Given the description of an element on the screen output the (x, y) to click on. 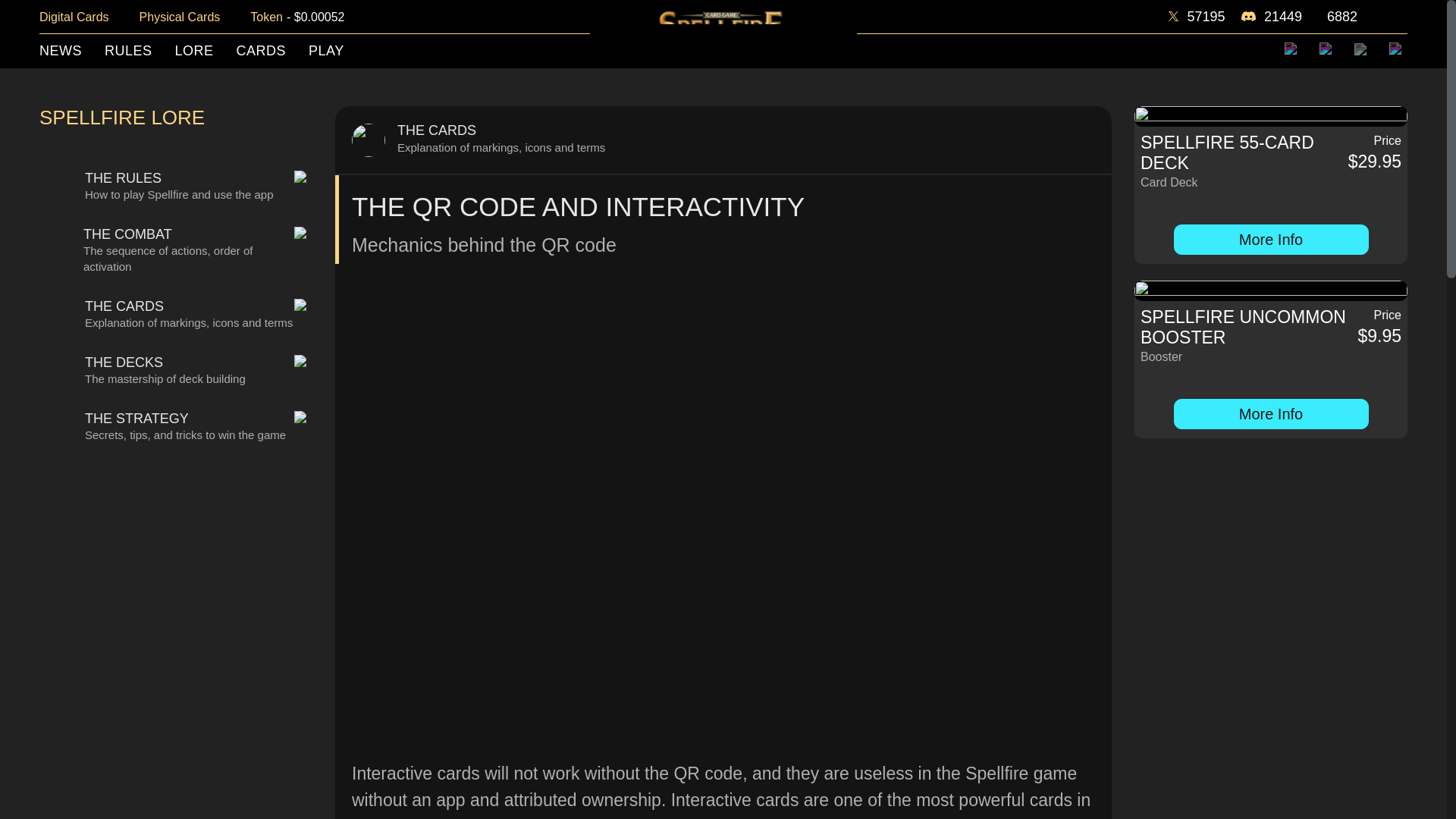
21449 (1271, 15)
57195 (1197, 15)
NEWS (60, 50)
PLAY (325, 50)
6882 (1337, 15)
Digital Cards (74, 16)
search (1363, 50)
profile (1398, 51)
RULES (128, 50)
market (1293, 51)
